Given the description of an element on the screen output the (x, y) to click on. 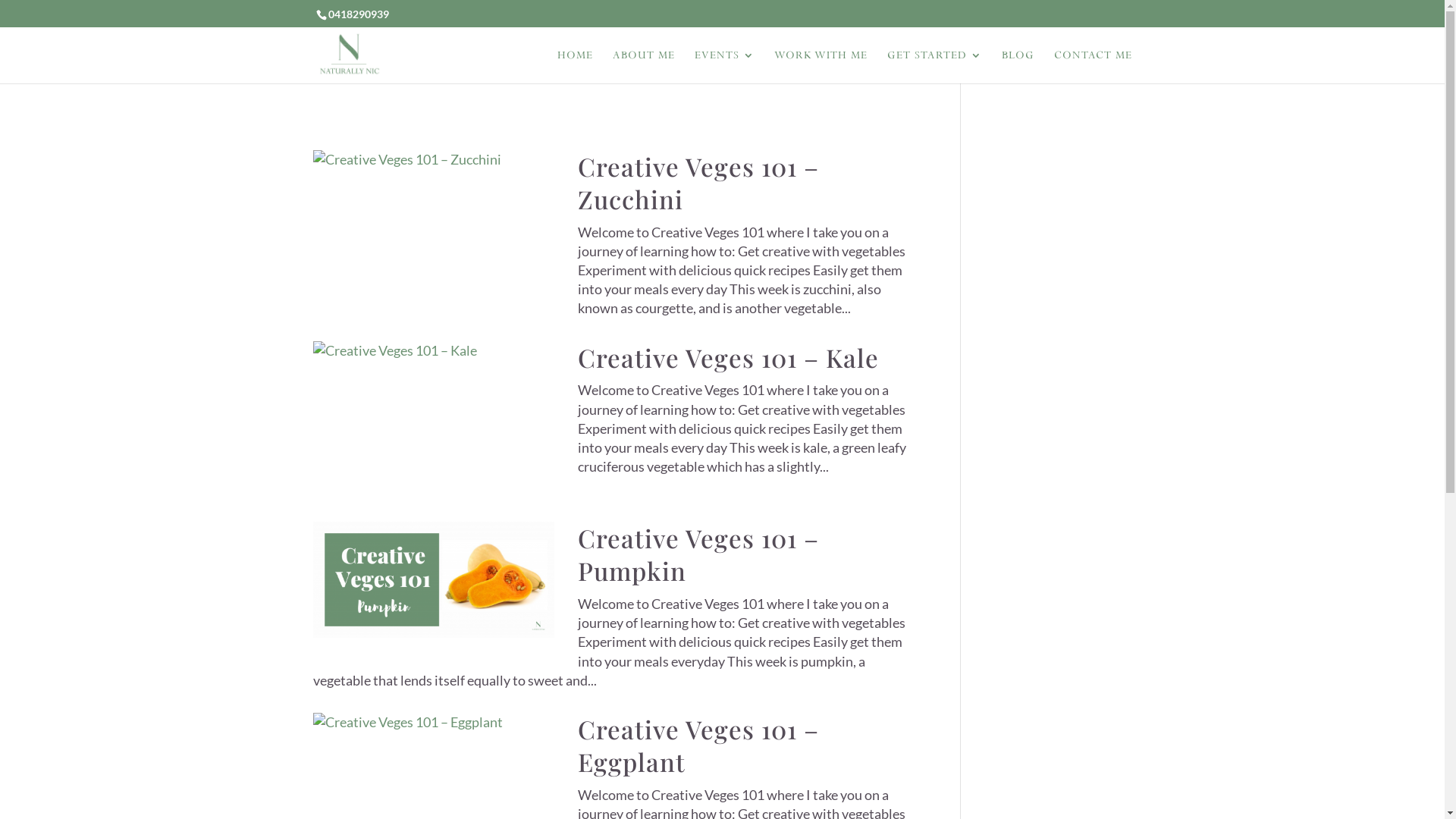
HOME Element type: text (574, 66)
BLOG Element type: text (1017, 66)
CONTACT ME Element type: text (1093, 66)
EVENTS Element type: text (724, 66)
WORK WITH ME Element type: text (819, 66)
GET STARTED Element type: text (934, 66)
ABOUT ME Element type: text (643, 66)
